Given the description of an element on the screen output the (x, y) to click on. 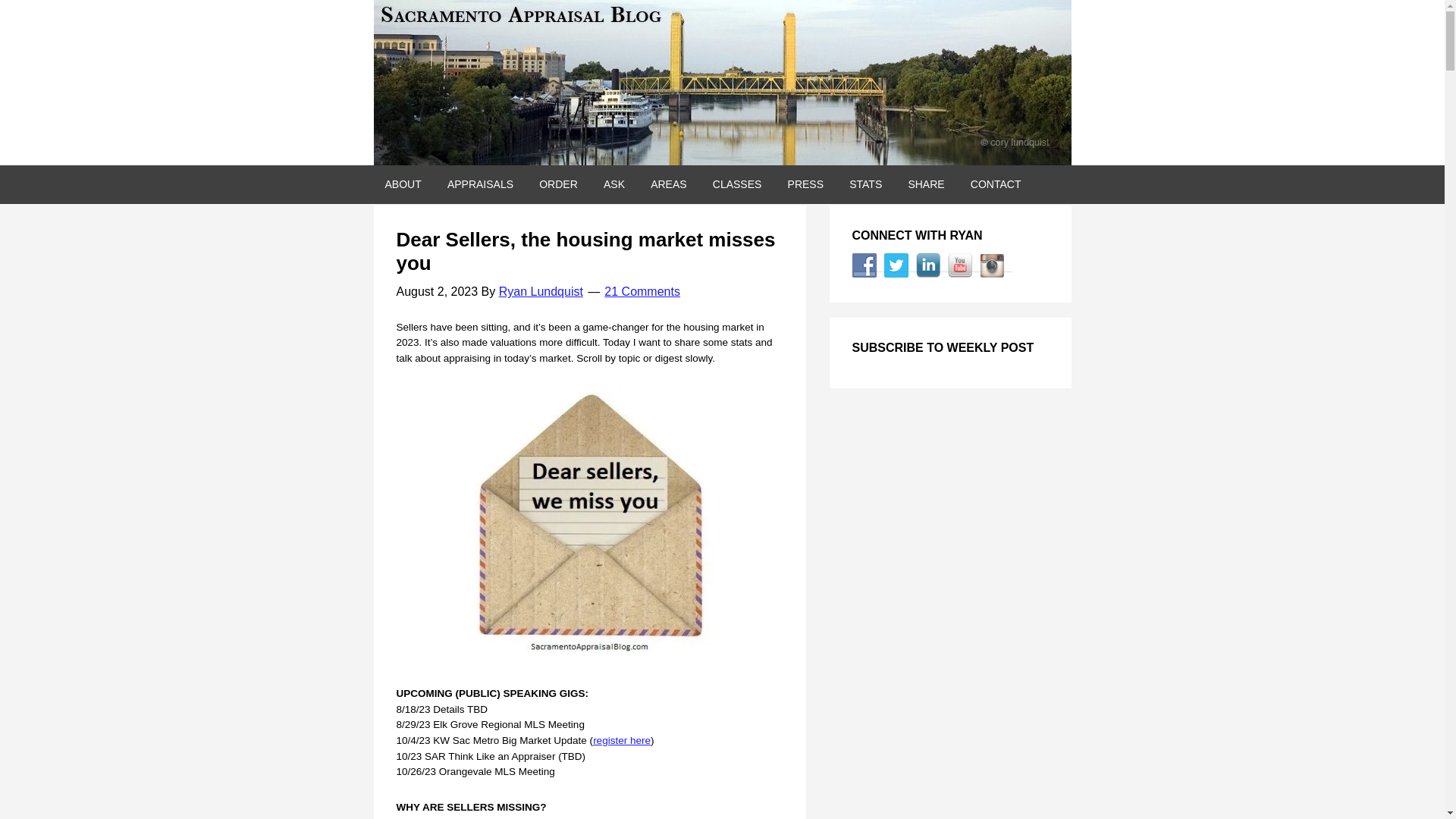
SHARE (925, 184)
PRESS (805, 184)
STATS (865, 184)
AREAS (668, 184)
Ryan Lundquist (541, 291)
ABOUT (402, 184)
ASK (614, 184)
21 Comments (641, 291)
 Instagram (991, 265)
 LinkedIn (927, 265)
 YouTube (959, 265)
 Facebook (863, 265)
Sacramento Appraisal Blog (721, 82)
CLASSES (737, 184)
register here (621, 740)
